Given the description of an element on the screen output the (x, y) to click on. 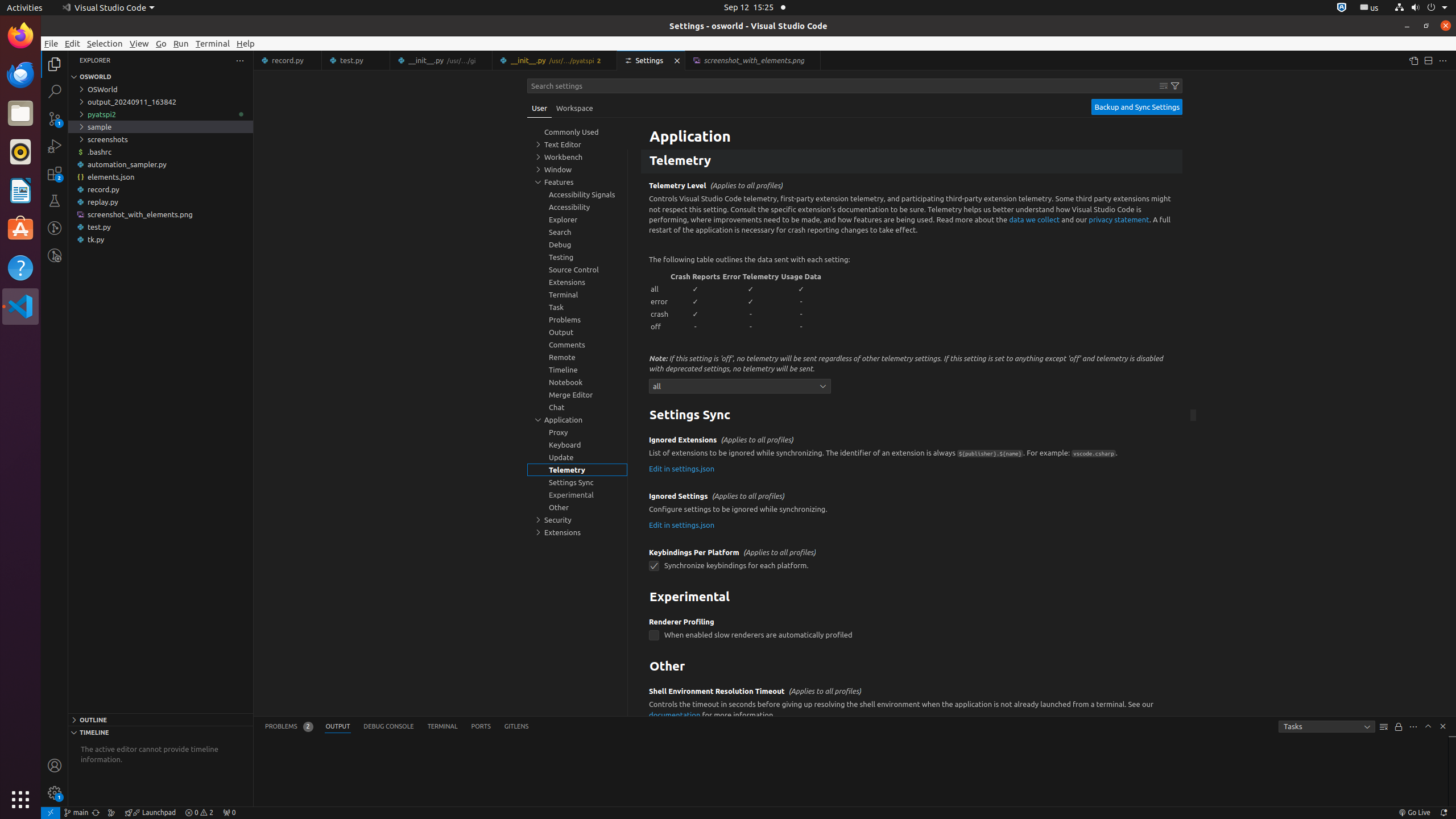
Security, group Element type: tree-item (577, 519)
Hide Panel Element type: push-button (1442, 726)
View Element type: push-button (139, 43)
Source Control (Ctrl+Shift+G G) - 1 pending changes Source Control (Ctrl+Shift+G G) - 1 pending changes Element type: page-tab (54, 118)
